Given the description of an element on the screen output the (x, y) to click on. 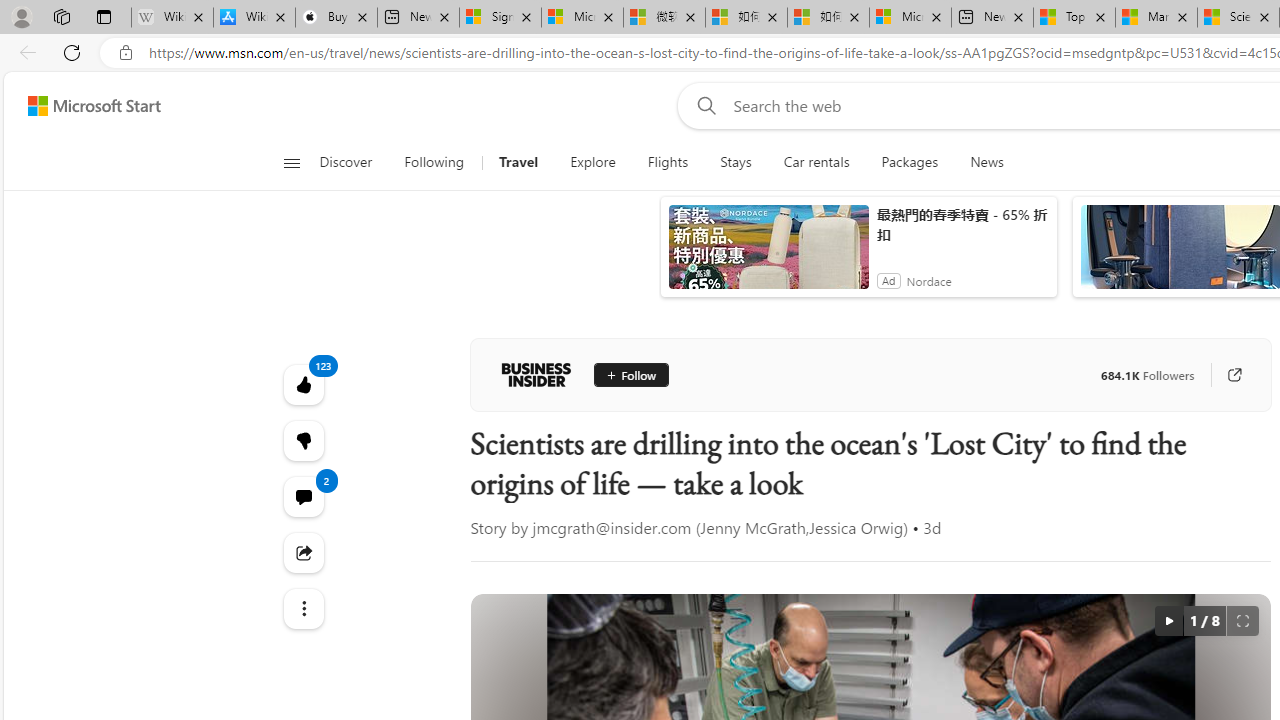
Marine life - MSN (1156, 17)
View comments 2 Comment (302, 496)
Packages (909, 162)
Packages (909, 162)
Flights (668, 162)
